Given the description of an element on the screen output the (x, y) to click on. 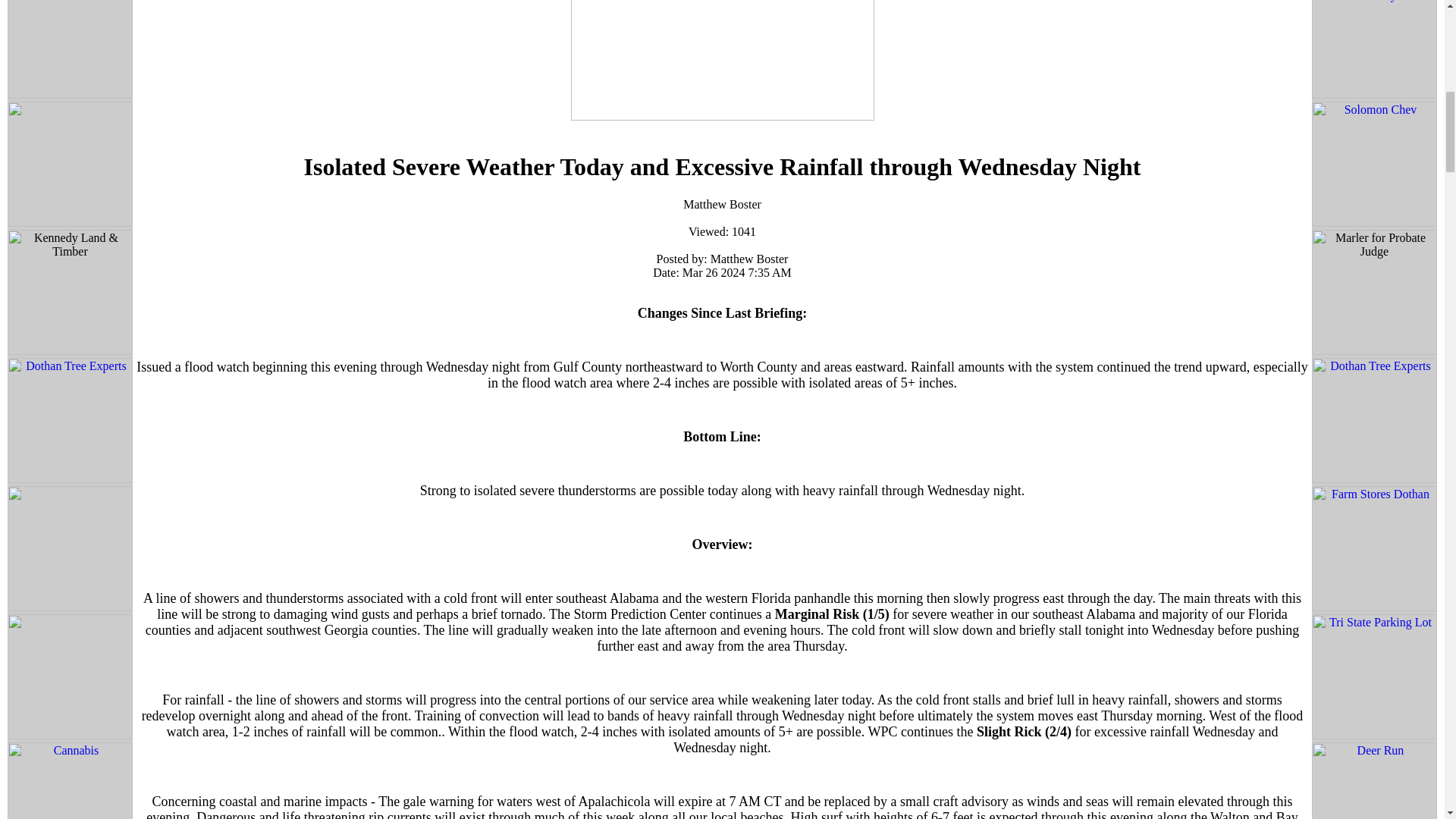
Cannabis (69, 780)
Dothan PC (69, 50)
Dothan Tree Experts (69, 421)
